Given the description of an element on the screen output the (x, y) to click on. 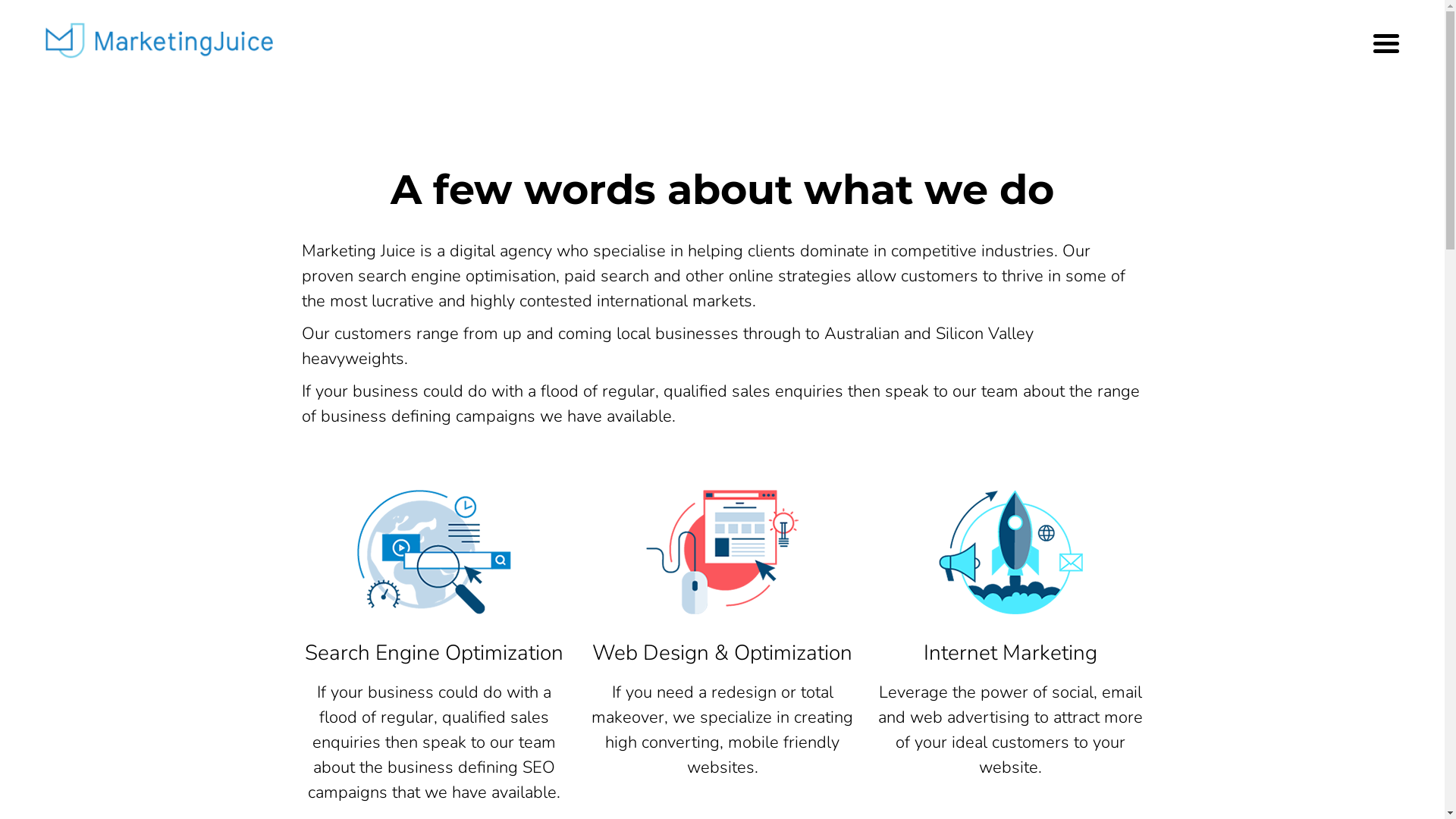
Marketing Juice Element type: hover (159, 40)
